Given the description of an element on the screen output the (x, y) to click on. 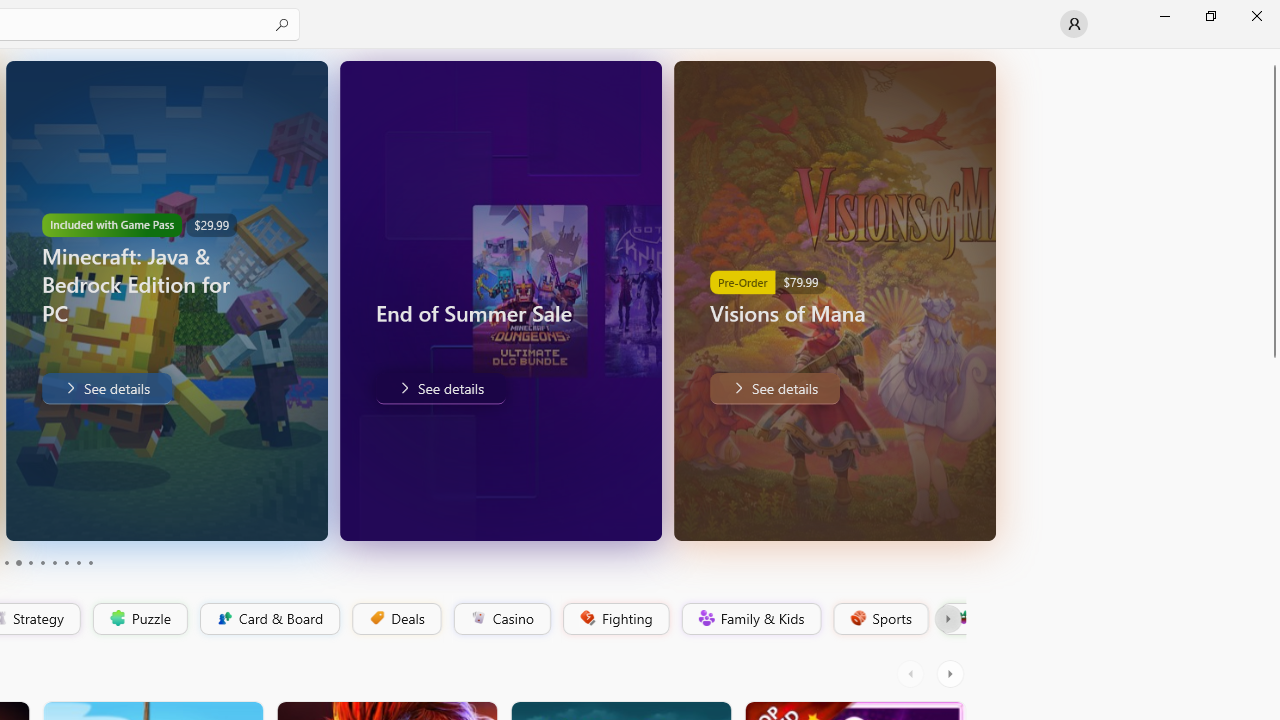
Casino (501, 619)
Page 6 (41, 562)
Minimize Microsoft Store (1164, 15)
User profile (1073, 24)
Class: Button (947, 619)
Card & Board (268, 619)
Deals (395, 619)
Fighting (614, 619)
Close Microsoft Store (1256, 15)
Page 4 (17, 562)
Platformer (952, 619)
Puzzle (139, 619)
Page 7 (54, 562)
Page 10 (90, 562)
